Given the description of an element on the screen output the (x, y) to click on. 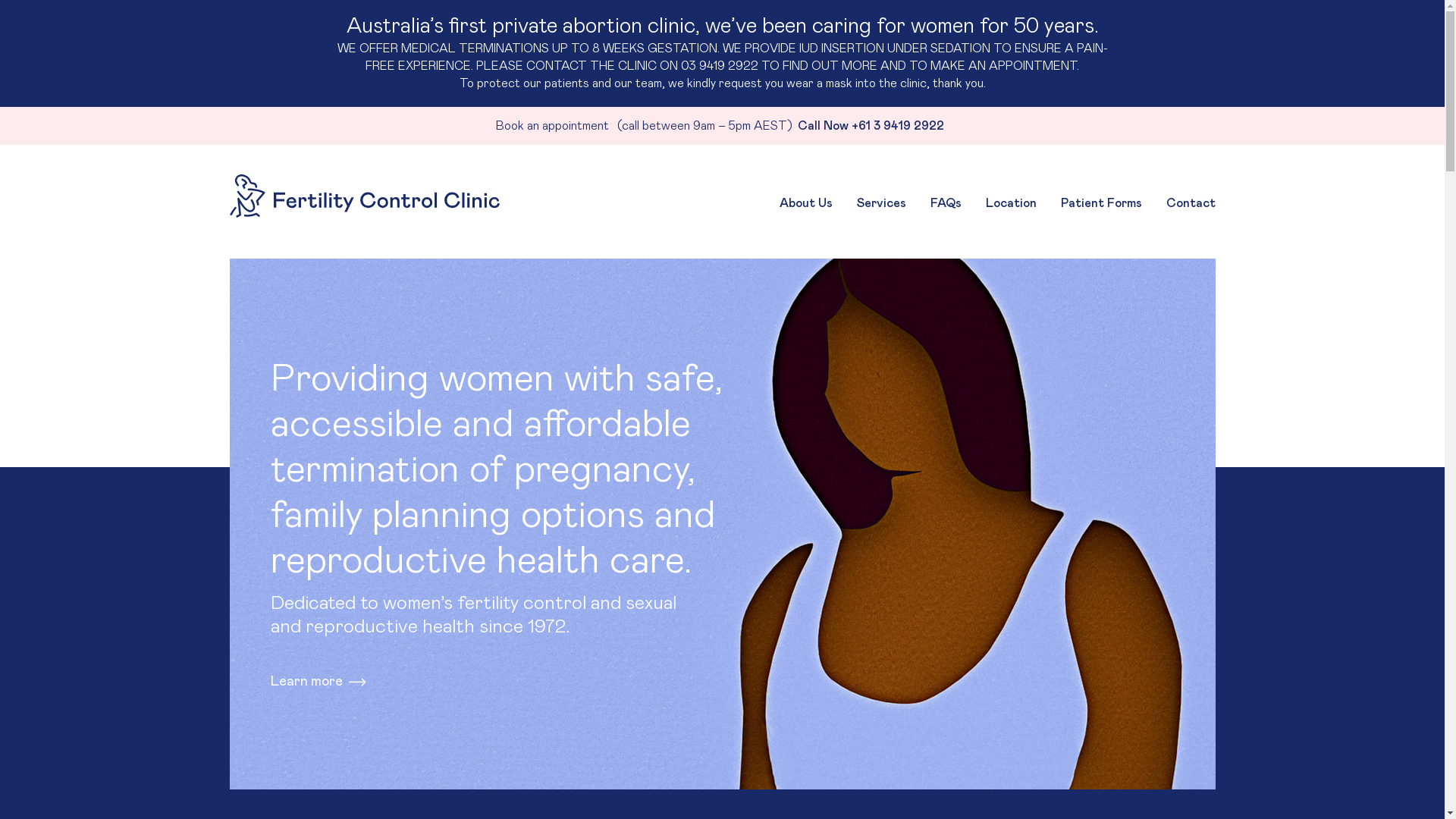
About Us Element type: text (805, 203)
Learn more Element type: text (320, 681)
Patient Forms Element type: text (1100, 203)
Call Now +61 3 9419 2922 Element type: text (873, 125)
Services Element type: text (881, 203)
FAQs Element type: text (944, 203)
Location Element type: text (1010, 203)
Contact Element type: text (1190, 203)
